Given the description of an element on the screen output the (x, y) to click on. 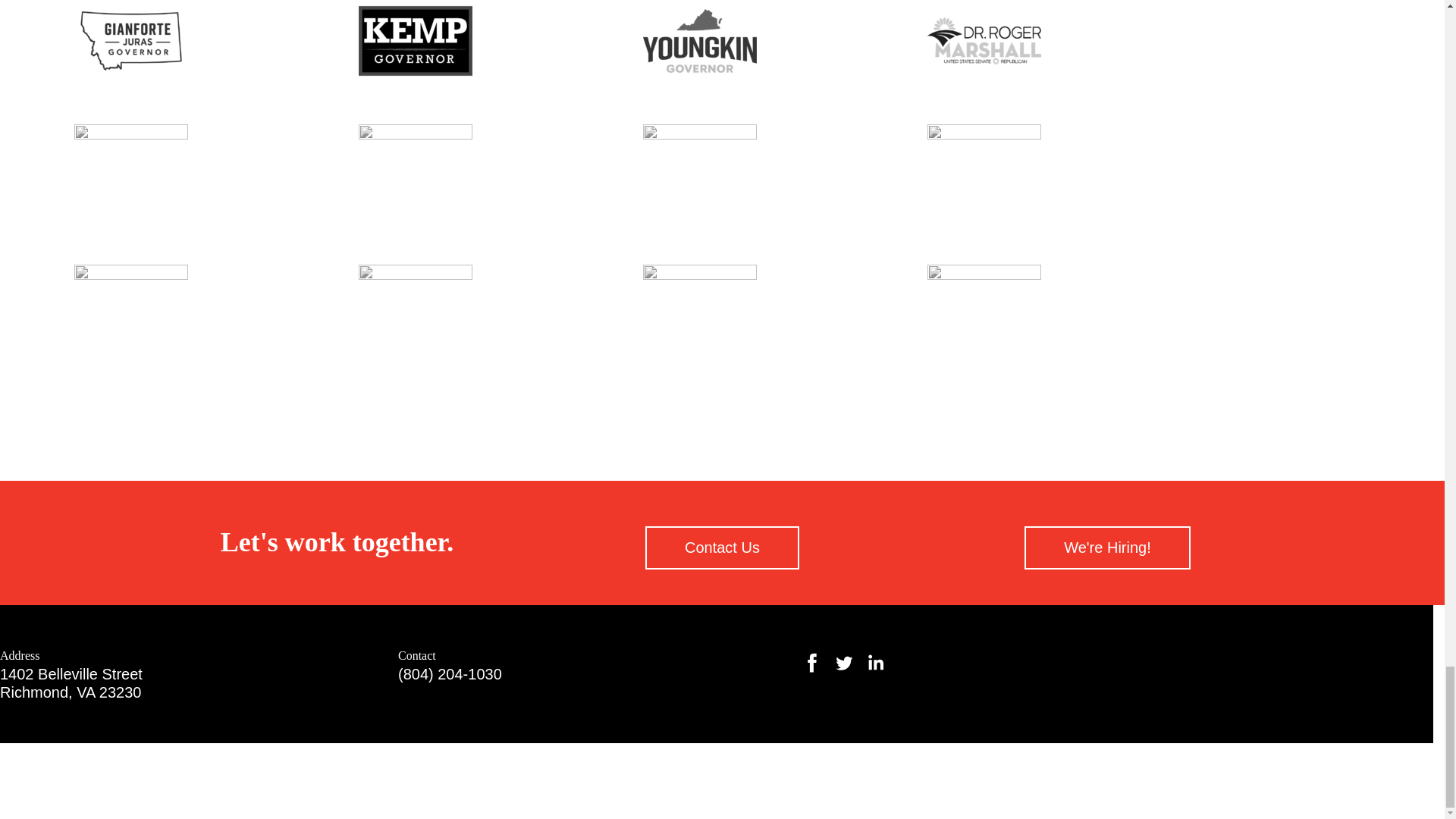
We're Hiring! (1108, 547)
We're Hiring! (1108, 547)
Contact Us (71, 683)
Contact Us (722, 547)
